Given the description of an element on the screen output the (x, y) to click on. 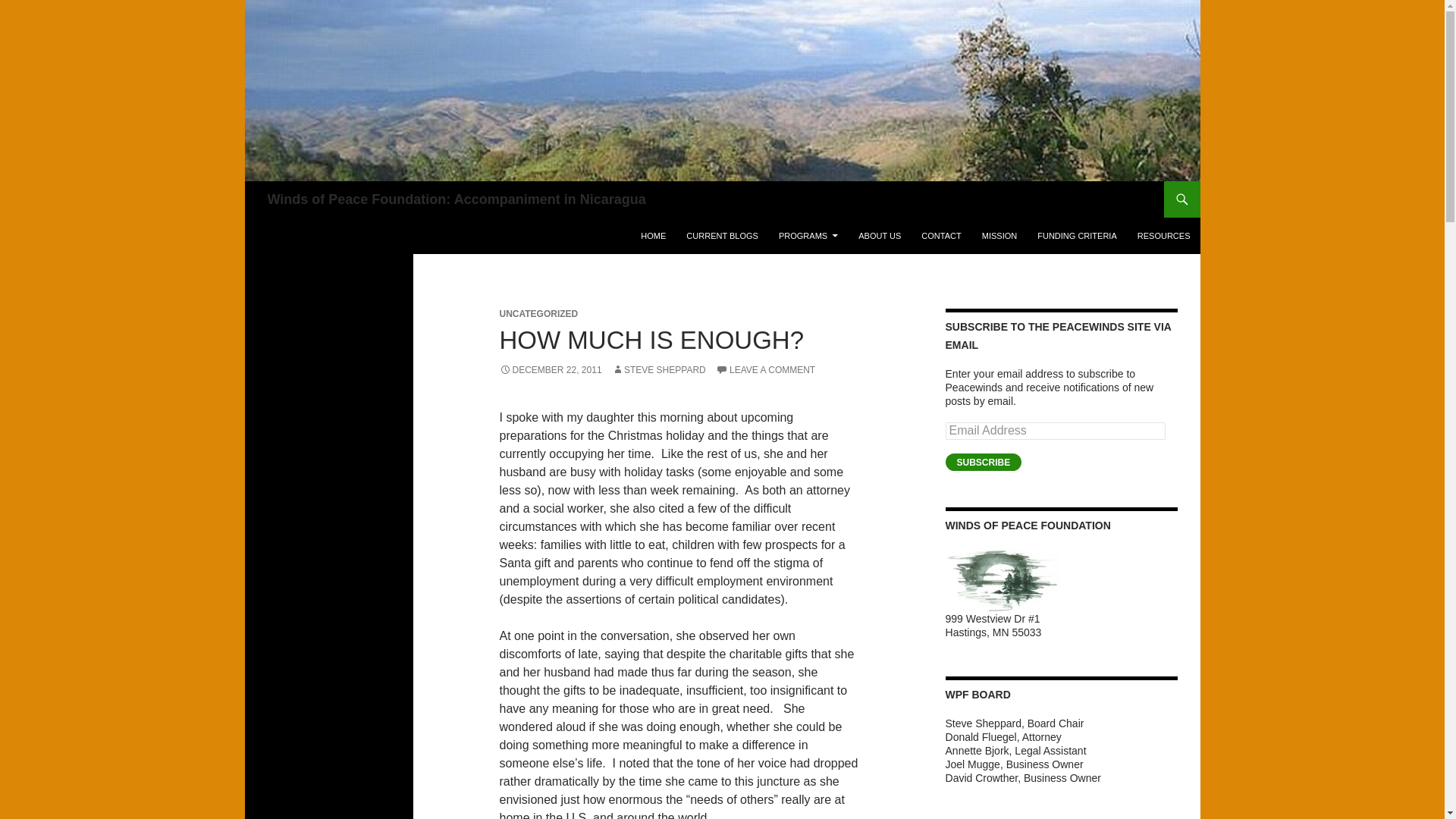
HOME (653, 235)
STEVE SHEPPARD (658, 369)
LEAVE A COMMENT (765, 369)
CONTACT (940, 235)
SUBSCRIBE (983, 461)
RESOURCES (1163, 235)
DECEMBER 22, 2011 (550, 369)
Winds of Peace Foundation: Accompaniment in Nicaragua (455, 198)
PROGRAMS (808, 235)
